Given the description of an element on the screen output the (x, y) to click on. 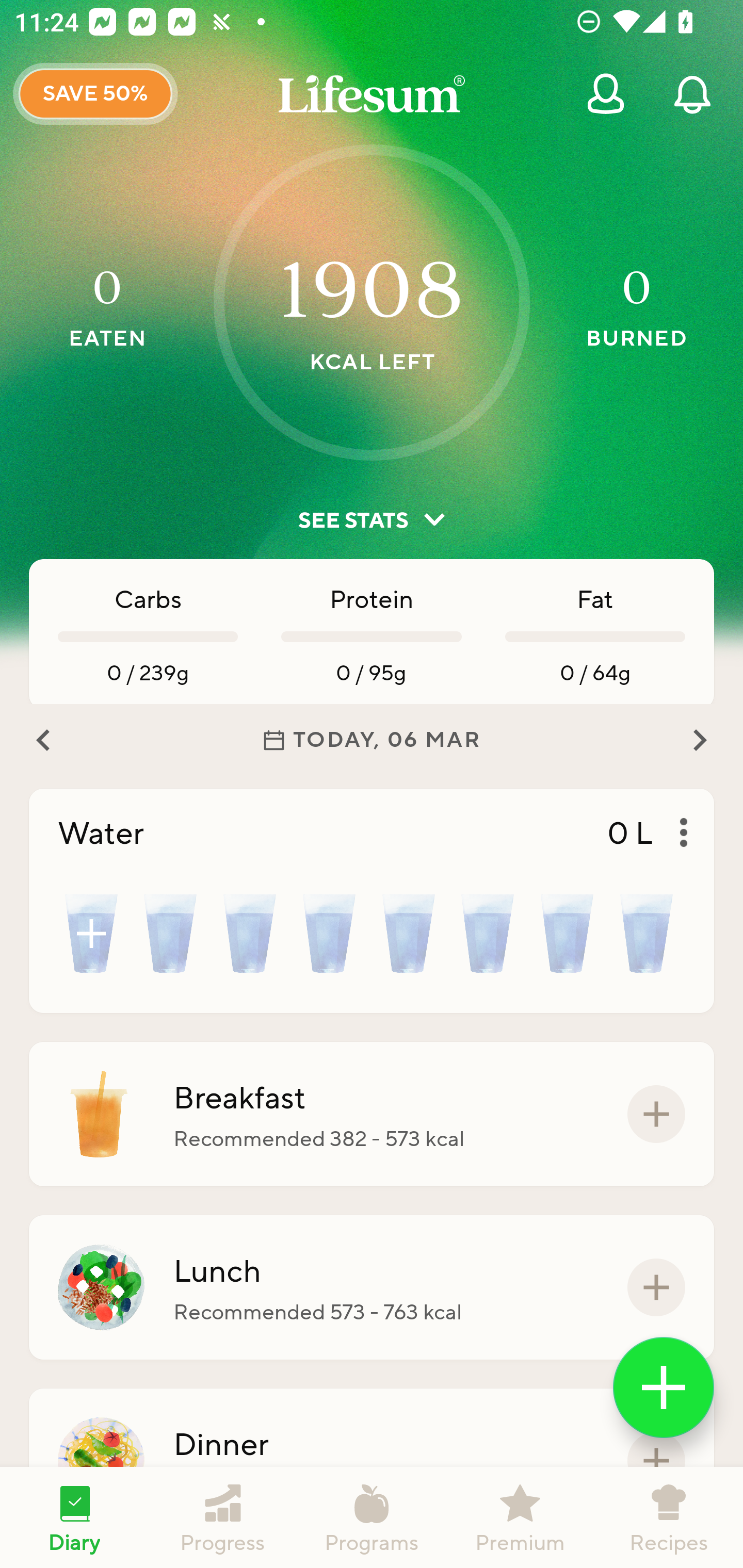
SEE STATS (371, 519)
TODAY, 06 MAR (371, 739)
Breakfast Recommended 382 - 573 kcal (371, 1113)
Lunch Recommended 573 - 763 kcal (371, 1287)
Dinner Recommended 573 - 763 kcal (371, 1461)
Progress (222, 1517)
Programs (371, 1517)
Premium (519, 1517)
Recipes (668, 1517)
